Given the description of an element on the screen output the (x, y) to click on. 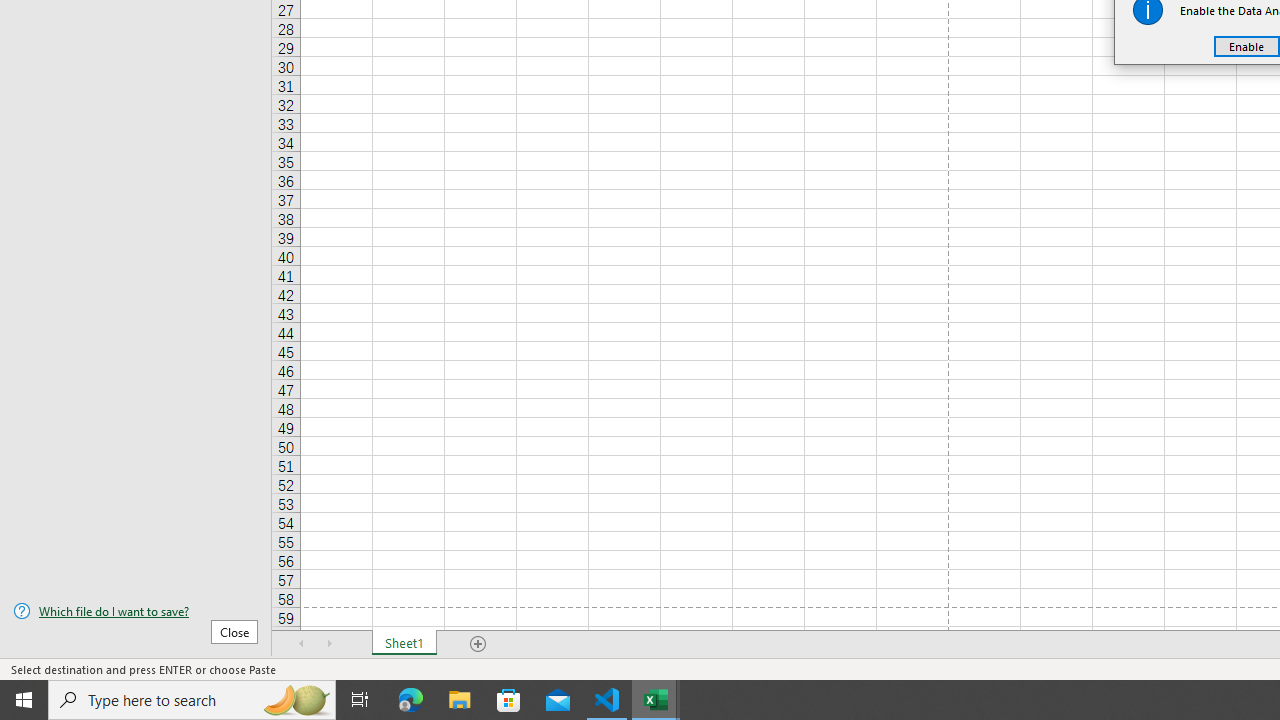
Search highlights icon opens search home window (295, 699)
Type here to search (191, 699)
Start (24, 699)
File Explorer (460, 699)
Excel - 2 running windows (656, 699)
Microsoft Edge (411, 699)
Visual Studio Code - 1 running window (607, 699)
Microsoft Store (509, 699)
